Given the description of an element on the screen output the (x, y) to click on. 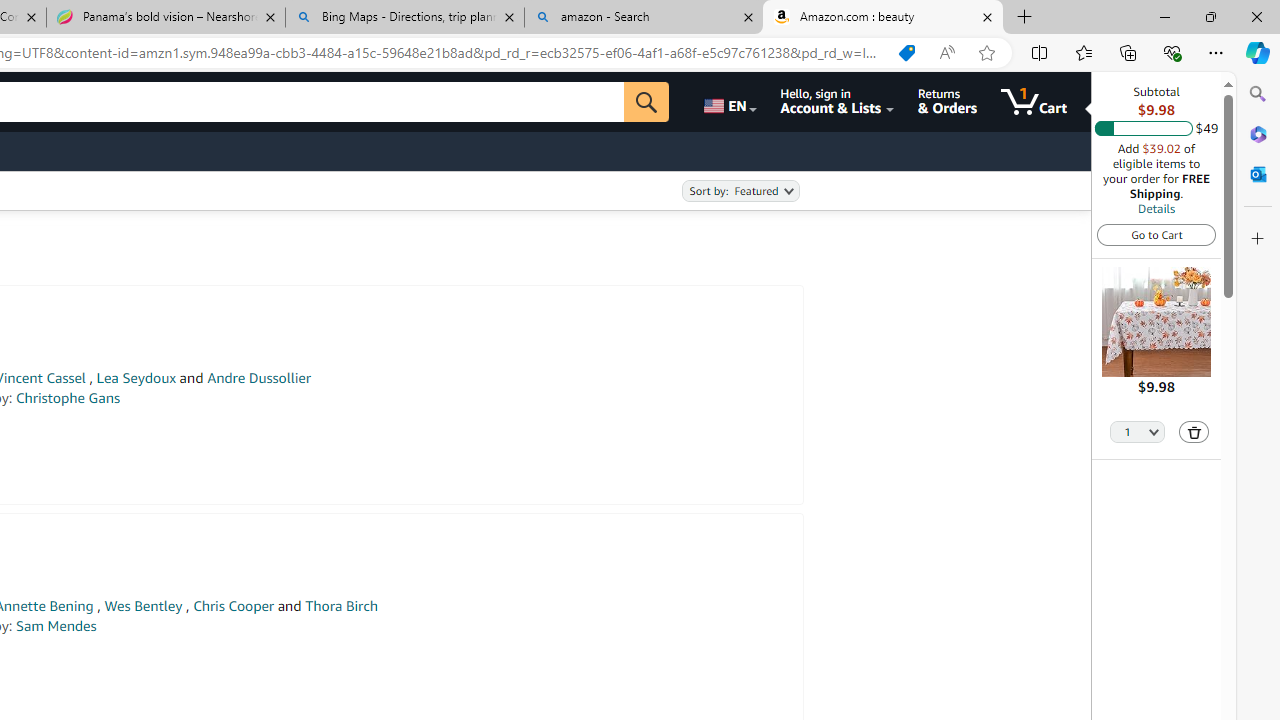
Details (1156, 208)
amazon - Search (643, 17)
Delete (1193, 431)
Christophe Gans (67, 398)
Thora Birch (340, 606)
Quantity Selector (1137, 430)
